Given the description of an element on the screen output the (x, y) to click on. 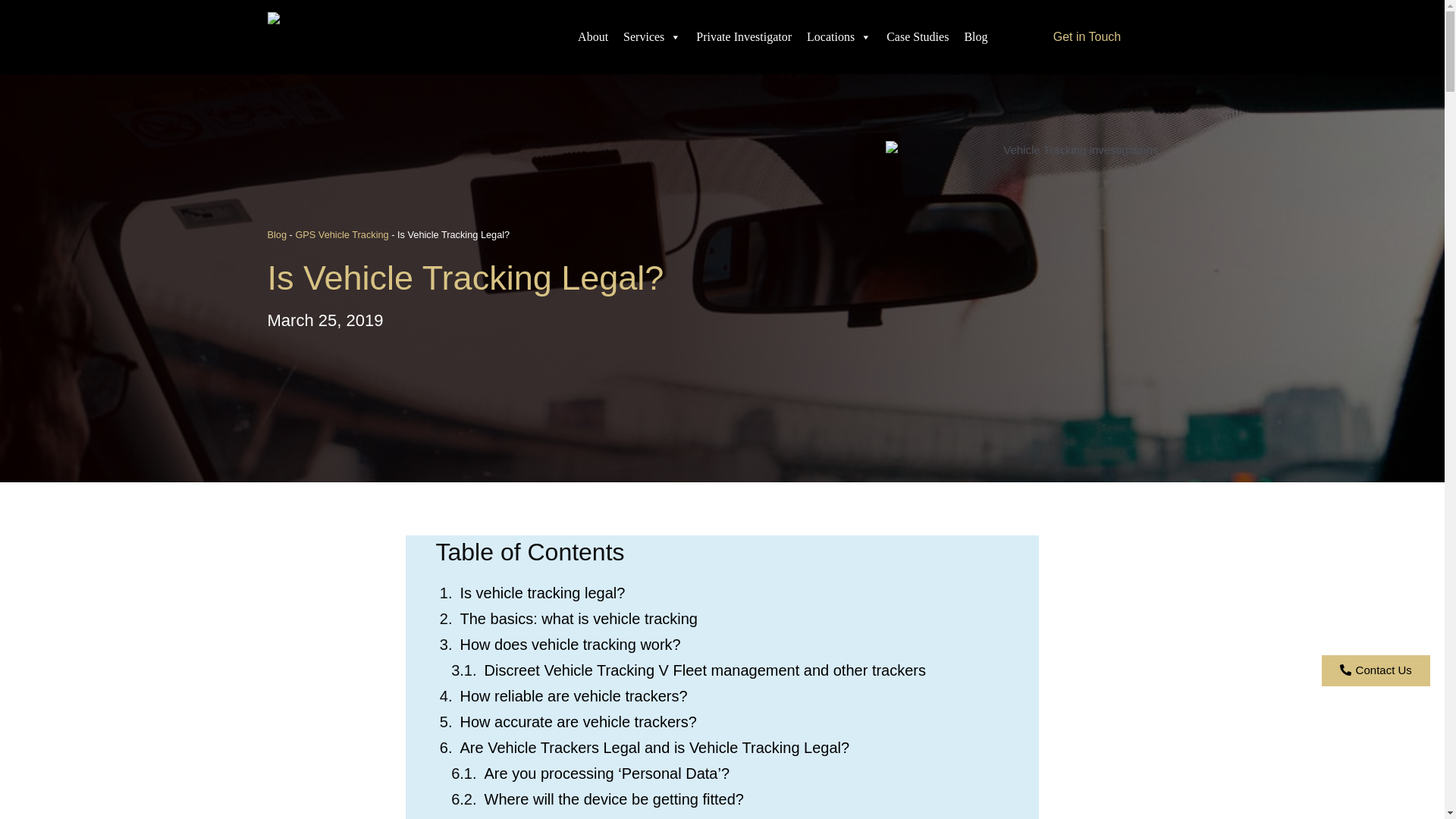
Is vehicle tracking legal (1021, 277)
Get in Touch (1087, 37)
Blog (975, 37)
Locations (839, 37)
Private Investigator (743, 37)
About (592, 37)
Services (651, 37)
Case Studies (917, 37)
